Given the description of an element on the screen output the (x, y) to click on. 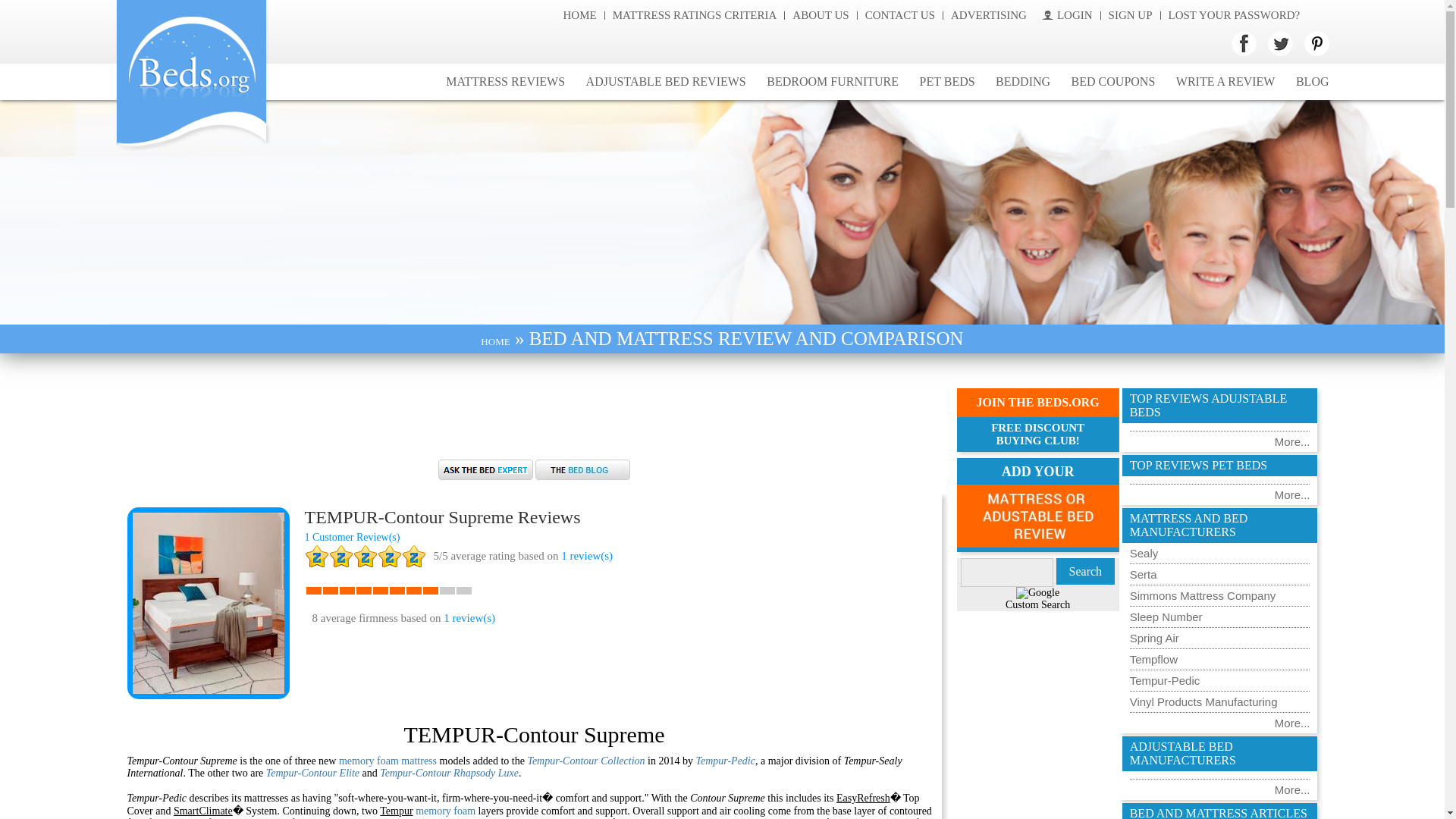
HOME (494, 341)
Advertisement (533, 413)
BEDROOM FURNITURE (832, 81)
ADJUSTABLE BED REVIEWS (665, 81)
click to view comments (352, 536)
MATTRESS RATINGS CRITERIA (694, 15)
LOST YOUR PASSWORD? (1234, 15)
BEDDING (1023, 81)
LOGIN (1067, 15)
BED COUPONS (1113, 81)
MATTRESS REVIEWS (504, 81)
HOME (578, 15)
PET BEDS (947, 81)
WRITE A REVIEW (1225, 81)
TEMPUR-Contour Supreme mattress (207, 602)
